Given the description of an element on the screen output the (x, y) to click on. 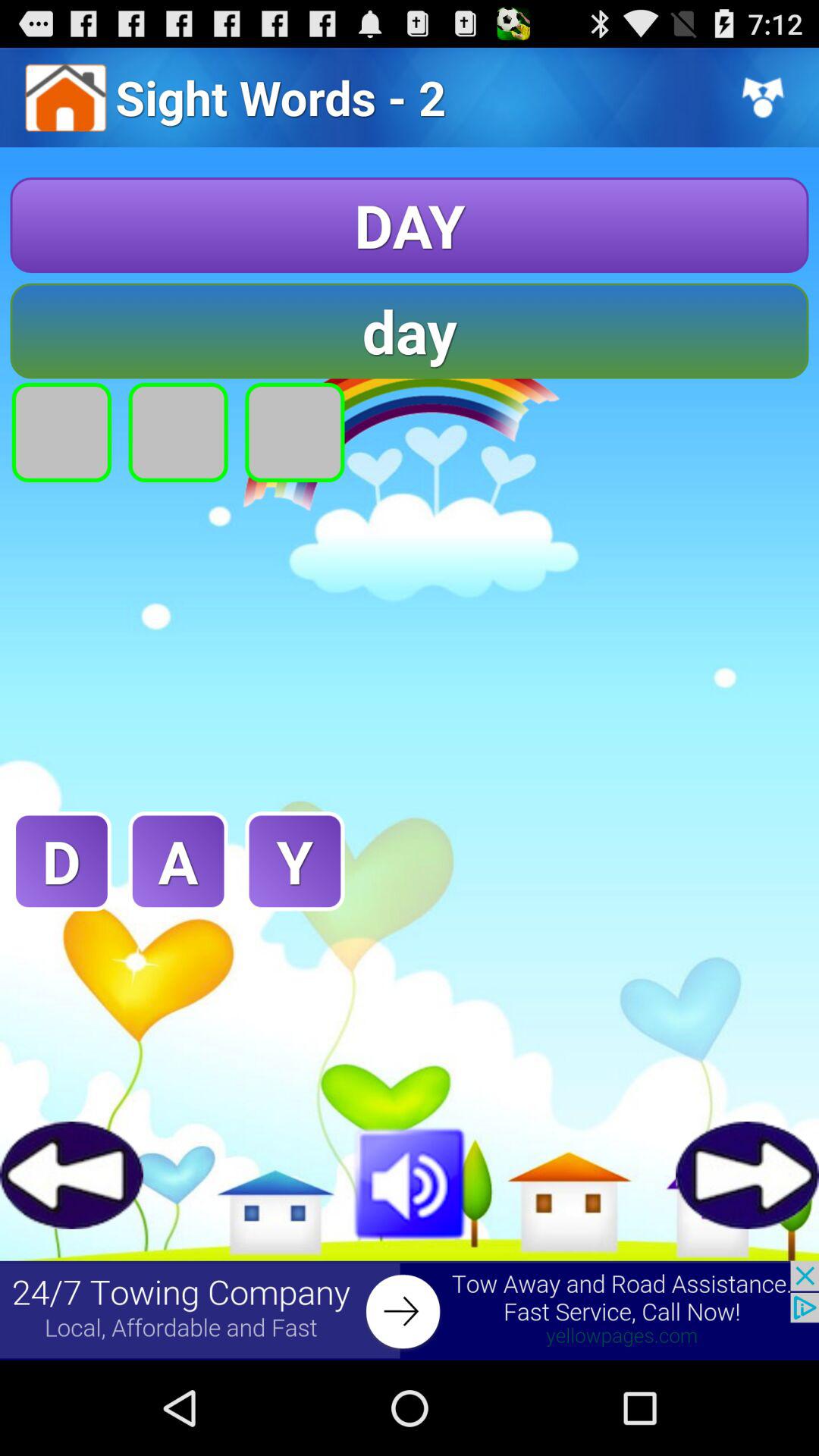
go to previous (71, 1175)
